Given the description of an element on the screen output the (x, y) to click on. 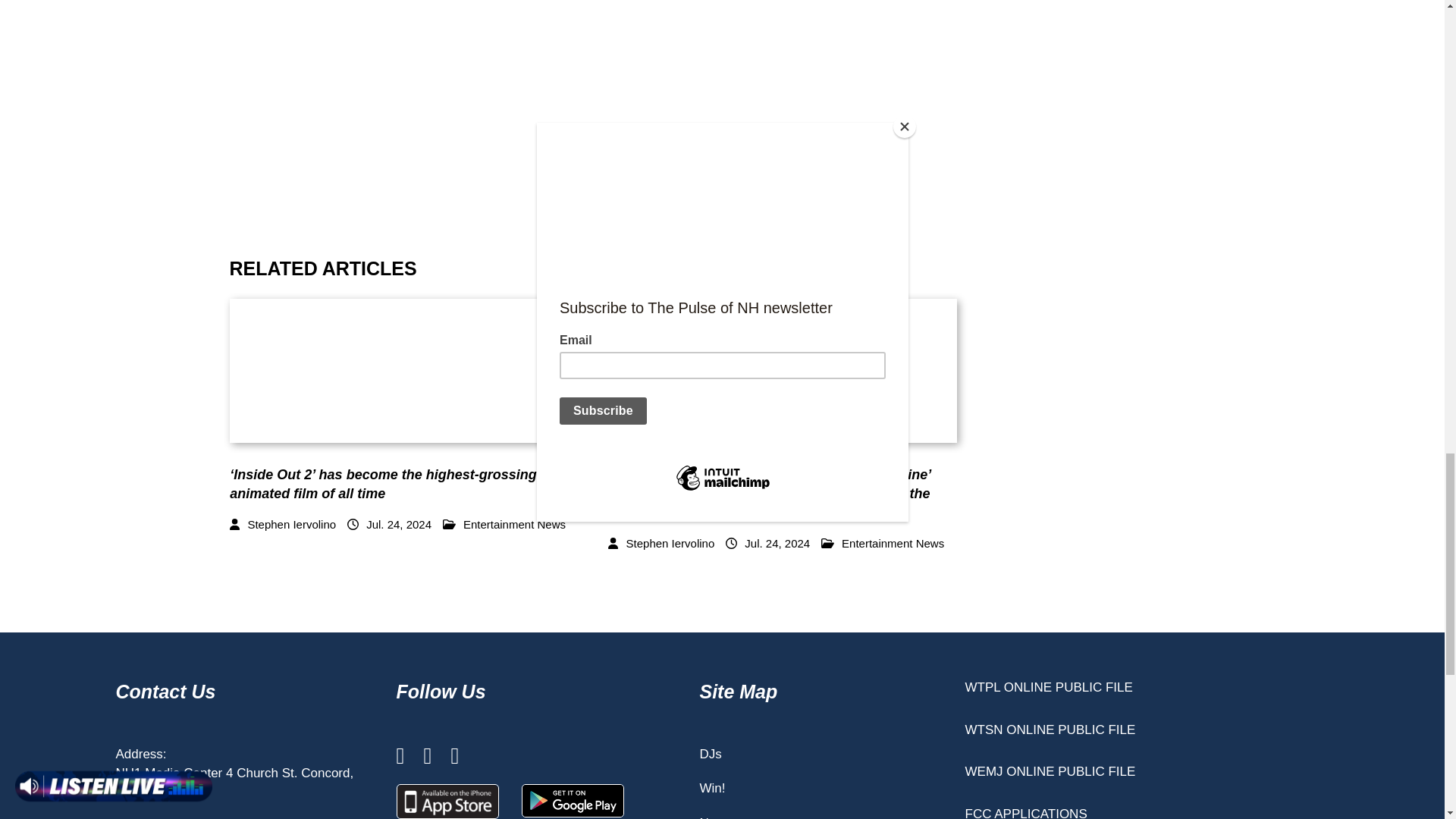
App Store (447, 801)
